Given the description of an element on the screen output the (x, y) to click on. 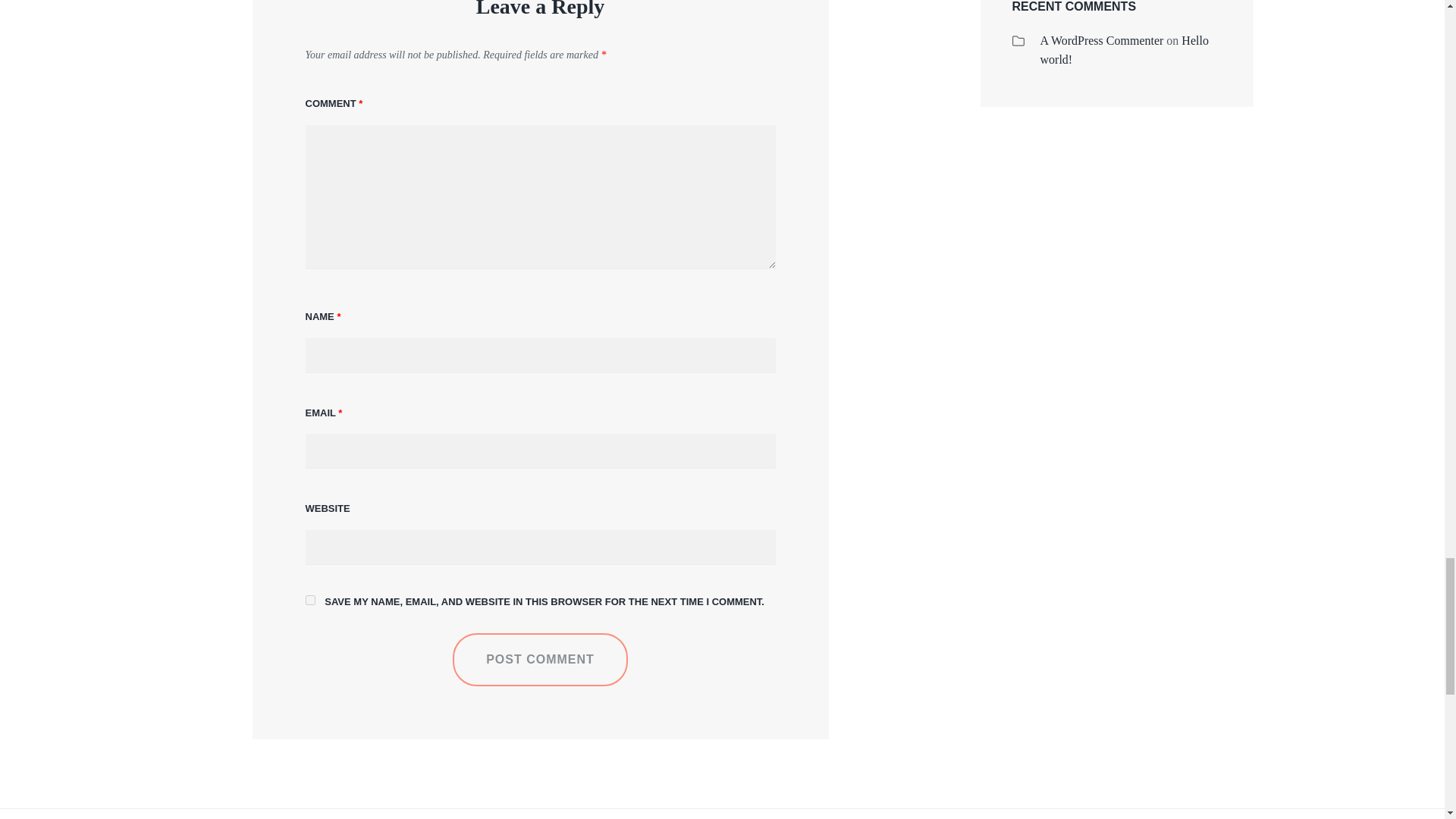
Post Comment (539, 659)
yes (309, 600)
Post Comment (539, 659)
